Given the description of an element on the screen output the (x, y) to click on. 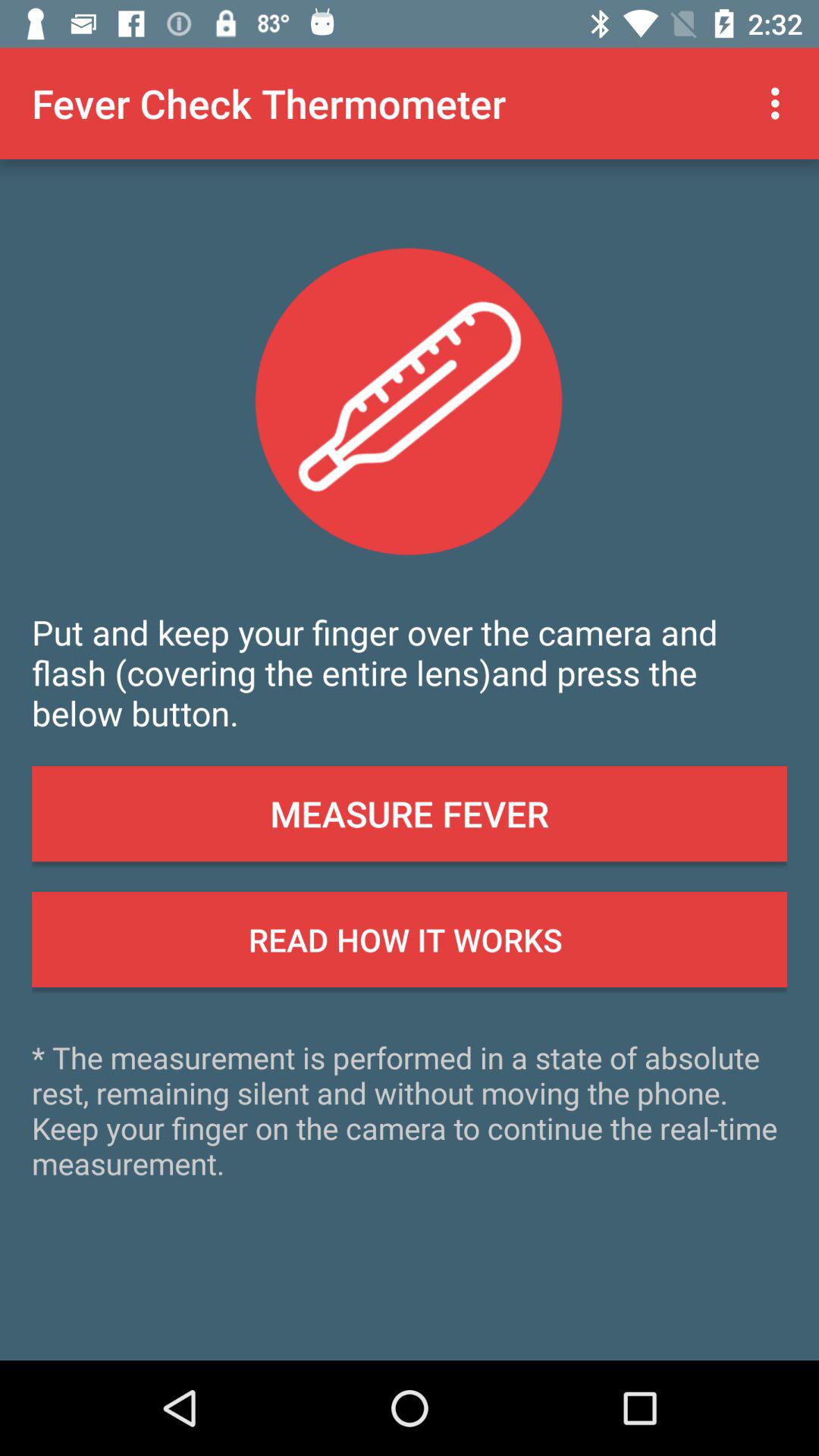
launch the app next to the fever check thermometer app (779, 103)
